Given the description of an element on the screen output the (x, y) to click on. 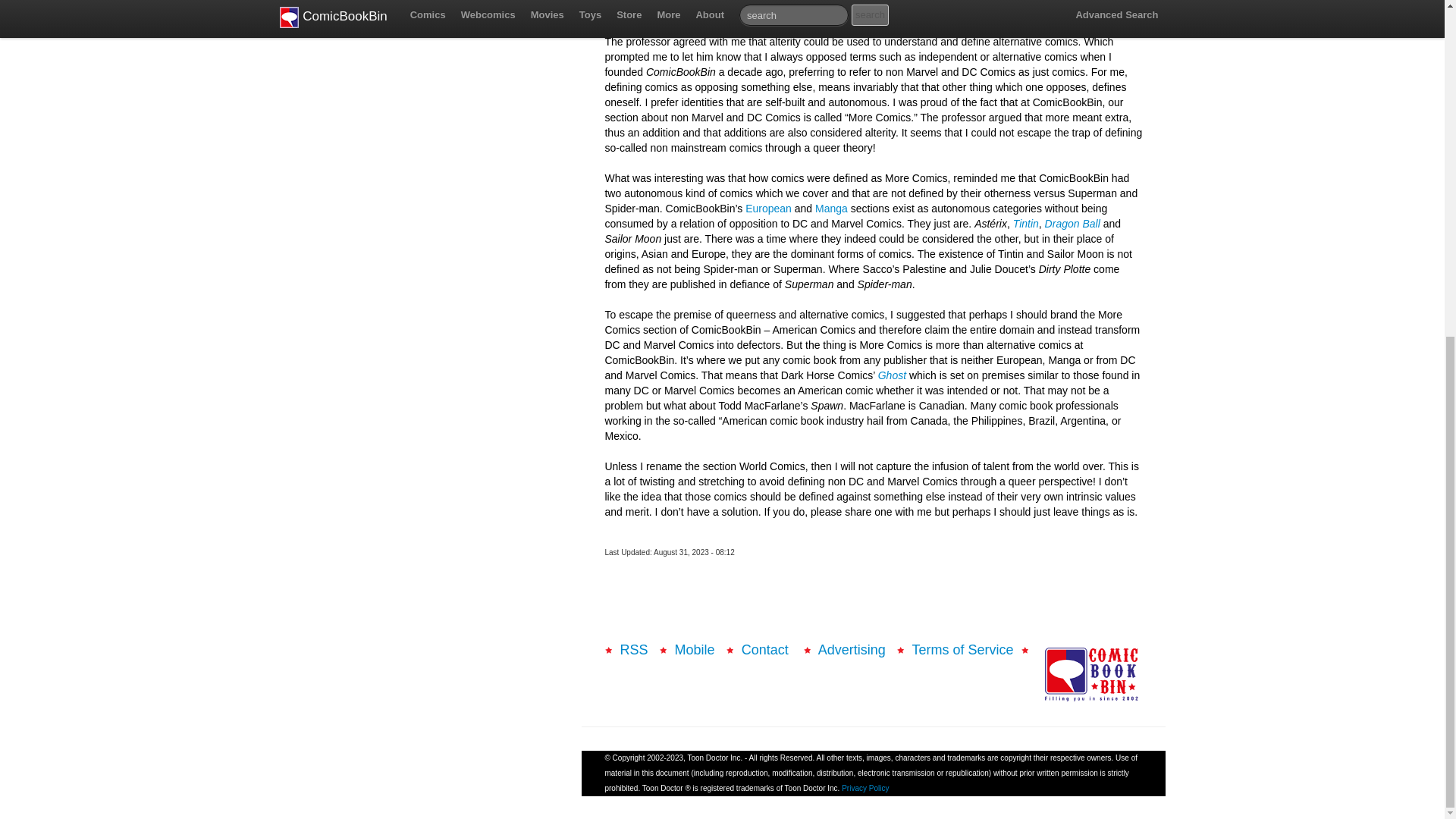
Advertising (851, 649)
Terms of Service (962, 649)
RSS (633, 649)
Mobile (694, 649)
Contact (766, 649)
